Given the description of an element on the screen output the (x, y) to click on. 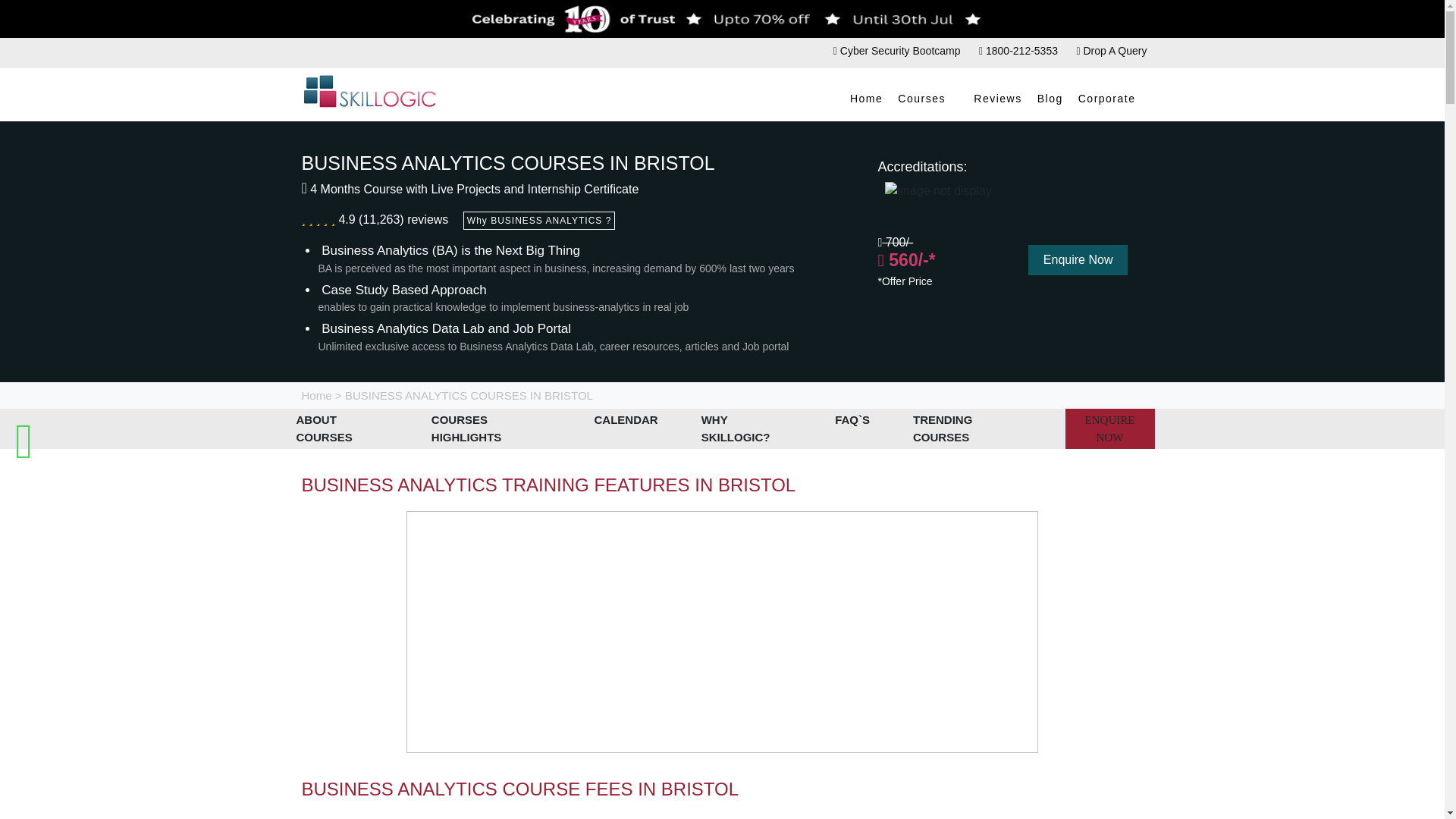
Courses (927, 98)
Home (866, 98)
Cyber Security Bootcamp (896, 50)
Drop A Query (1111, 50)
1800-212-5353 (1018, 50)
